Given the description of an element on the screen output the (x, y) to click on. 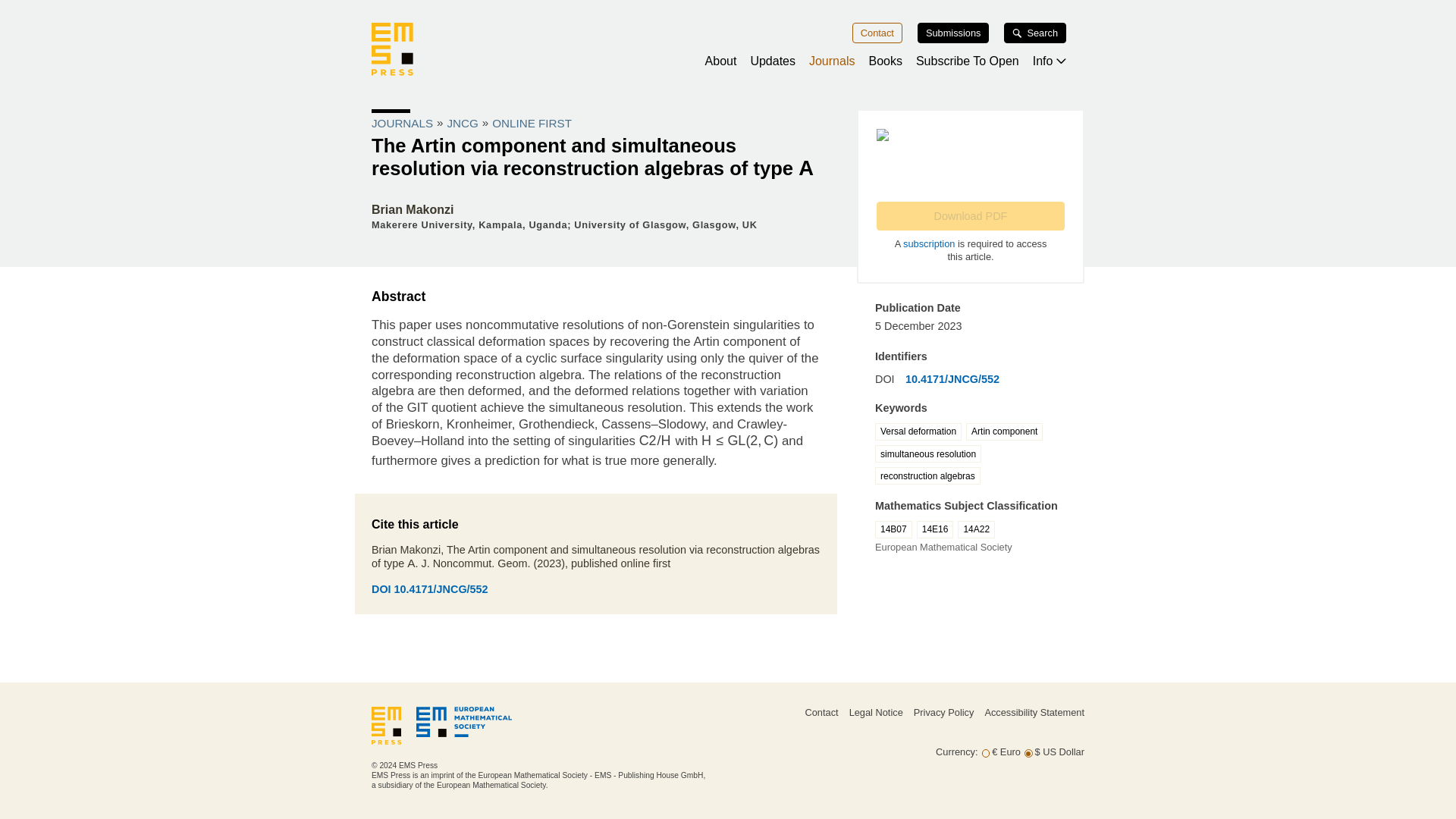
Accessibility Statement (1034, 712)
JOURNALS (401, 123)
ONLINE FIRST (532, 123)
Books (884, 60)
Privacy Policy (944, 712)
Legal Notice (875, 712)
Currently you do not have access to this article. (970, 215)
Contact (876, 32)
Info (1048, 60)
JNCG (461, 123)
EUR (985, 753)
Footer Navigation (894, 726)
USD (1028, 753)
Updates (771, 60)
Search (1034, 32)
